Given the description of an element on the screen output the (x, y) to click on. 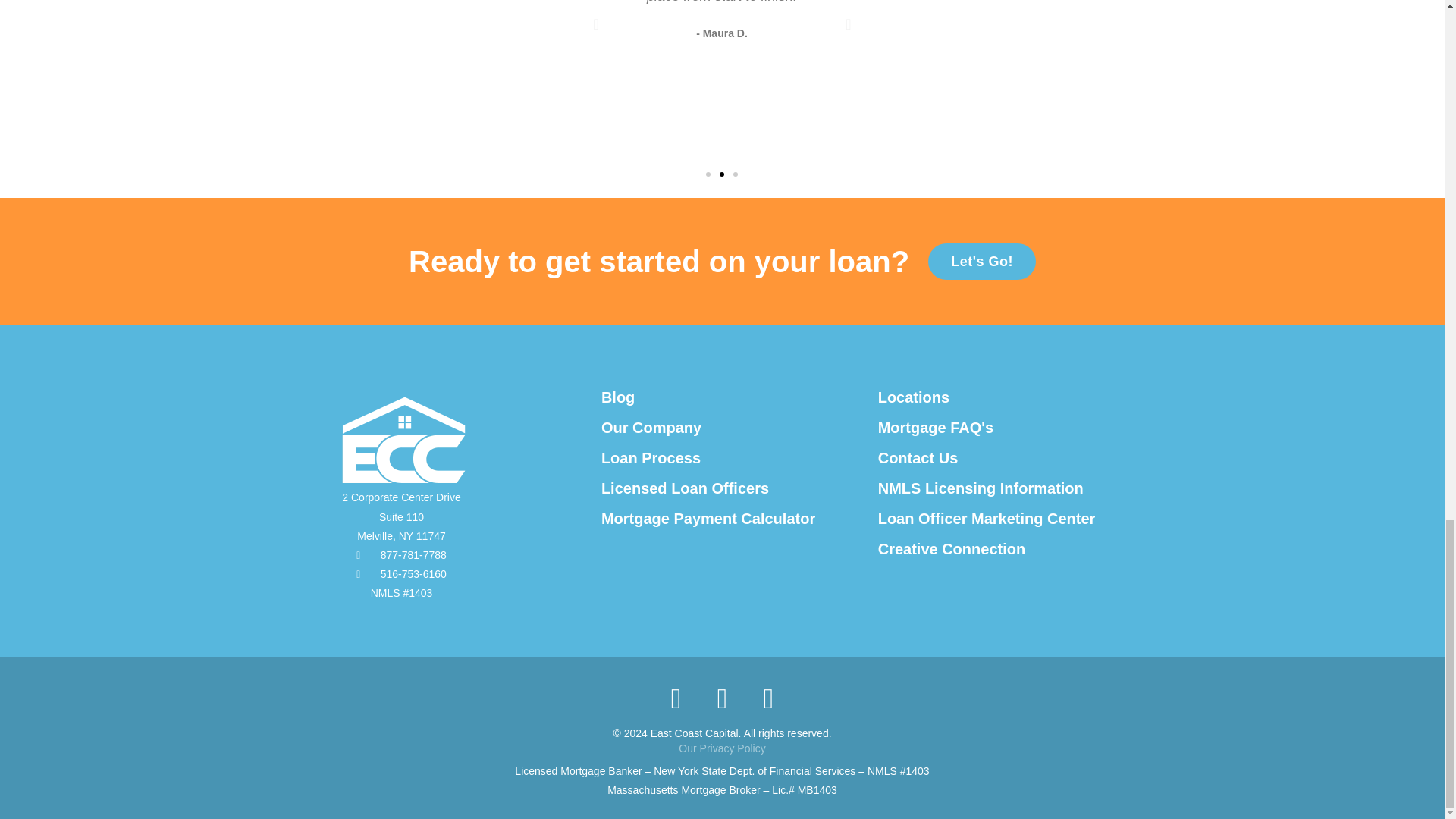
Loan Officer Marketing Center (986, 518)
Blog (617, 397)
Creative Connection (951, 548)
Locations (913, 397)
Mortgage FAQ's (935, 427)
Contact Us (917, 457)
Licensed Loan Officers (684, 487)
Mortgage Payment Calculator (708, 518)
Our Privacy Policy (721, 748)
Loan Process (650, 457)
NMLS Licensing Information (980, 487)
Our Company (651, 427)
Let's Go! (981, 261)
877-781-7788 (400, 555)
